Given the description of an element on the screen output the (x, y) to click on. 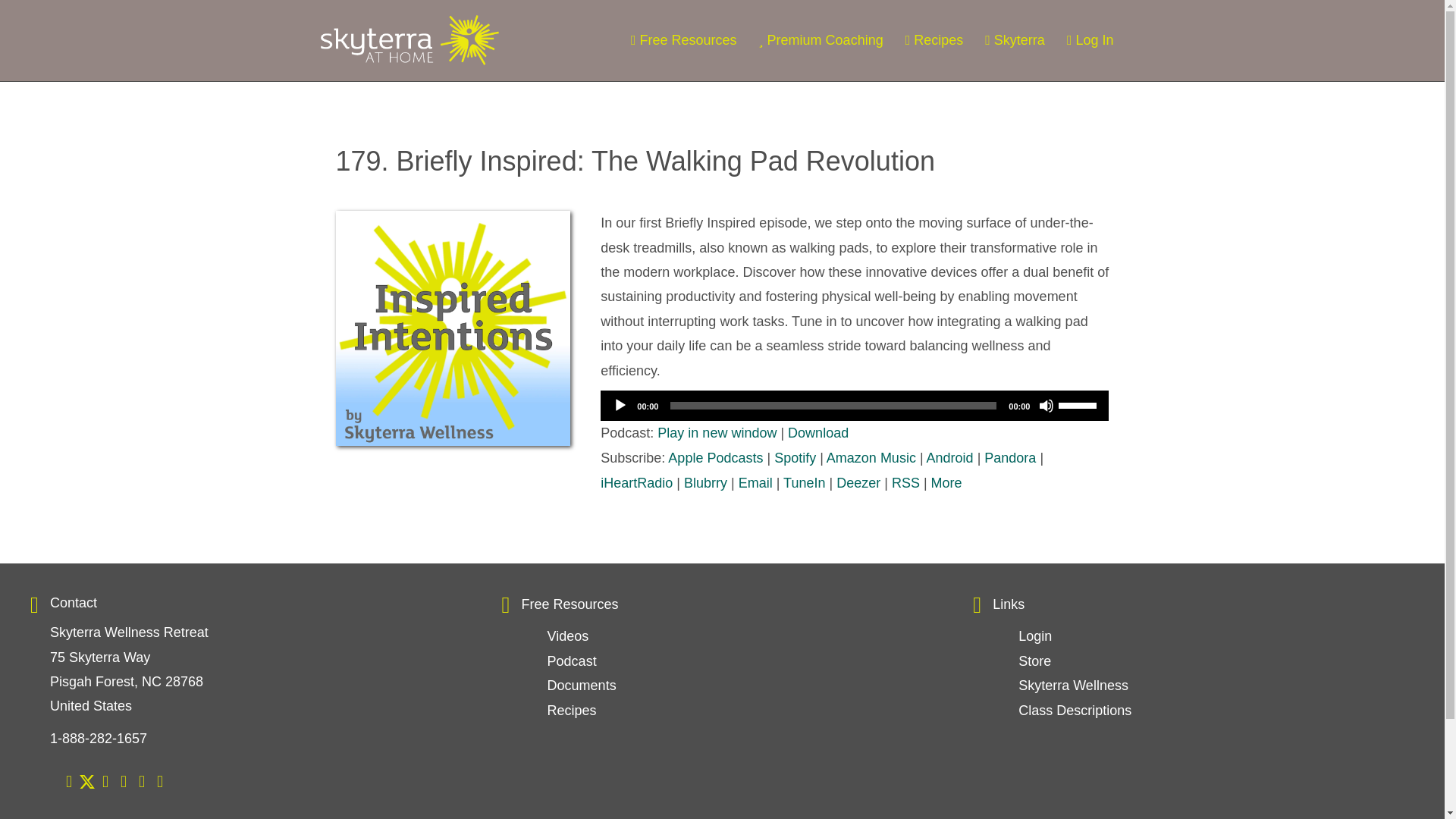
Play in new window (717, 432)
Spotify (794, 458)
1-888-282-1657 (98, 738)
More (946, 482)
Play (619, 405)
Download (817, 432)
Email (755, 482)
TuneIn (804, 482)
Blubrry (705, 482)
Login (1034, 635)
